Given the description of an element on the screen output the (x, y) to click on. 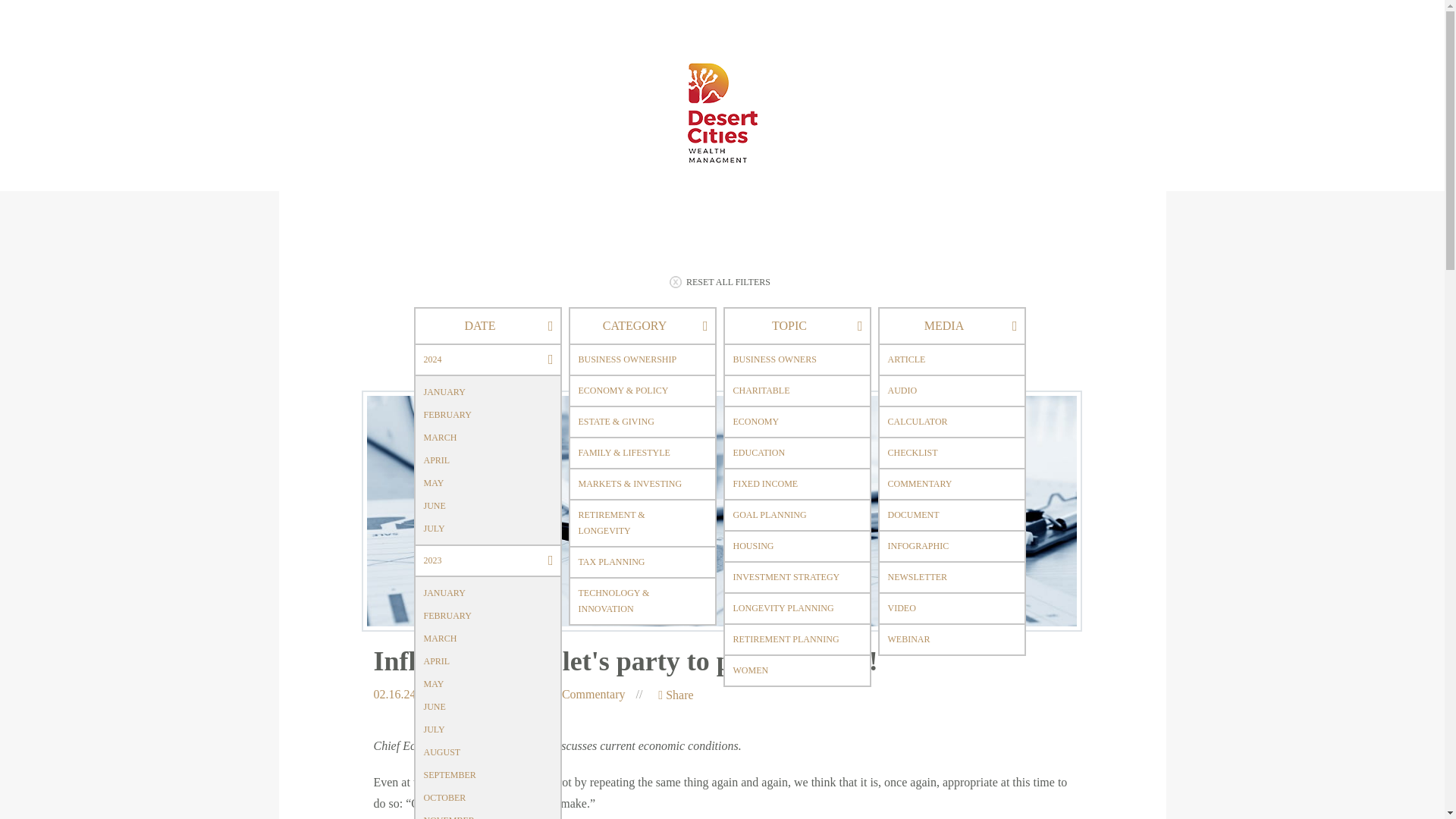
LOGIN (877, 225)
